Given the description of an element on the screen output the (x, y) to click on. 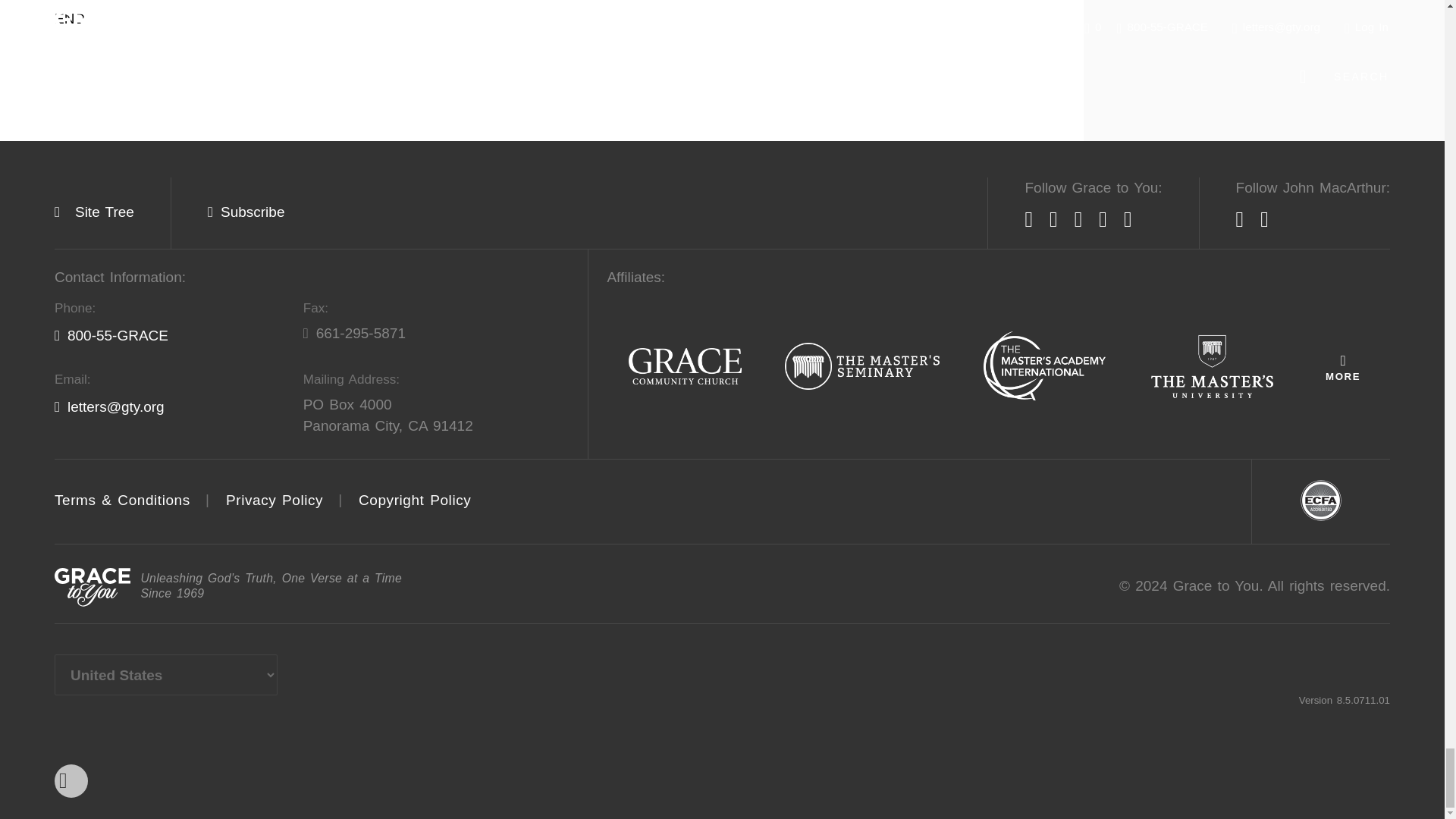
Grace Community Church (684, 367)
More Affiliates (1341, 367)
Grace-to-You (93, 587)
The Master' Seminary (862, 367)
The Master' University (1211, 367)
The Master' Academy International (1044, 366)
